Given the description of an element on the screen output the (x, y) to click on. 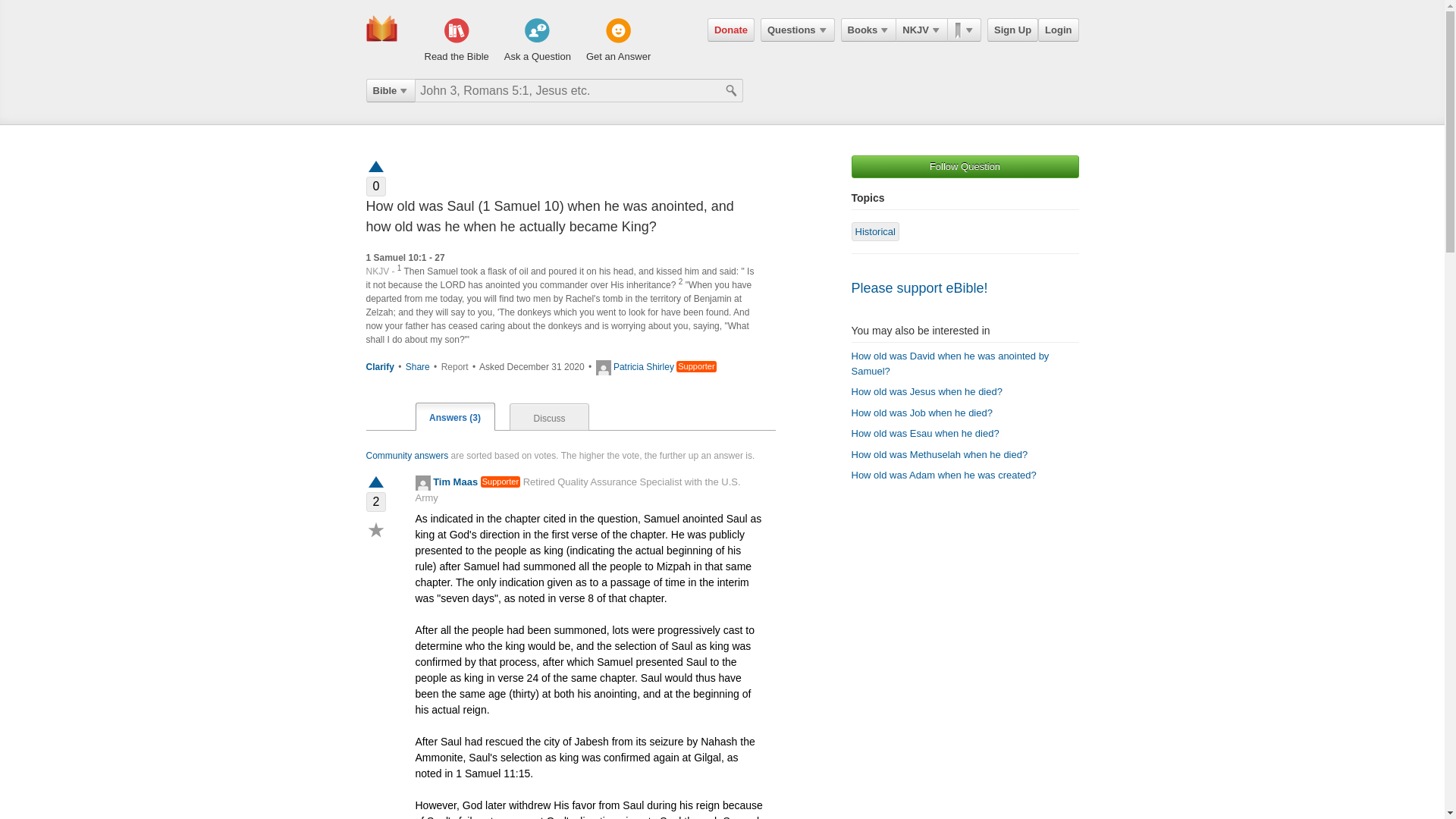
Books (868, 29)
Read the Bible (457, 41)
Donate (730, 29)
Get an Answer (618, 41)
Vote Question Up (375, 165)
Vote Up (375, 482)
Questions (797, 29)
Ask a Question (536, 41)
